Given the description of an element on the screen output the (x, y) to click on. 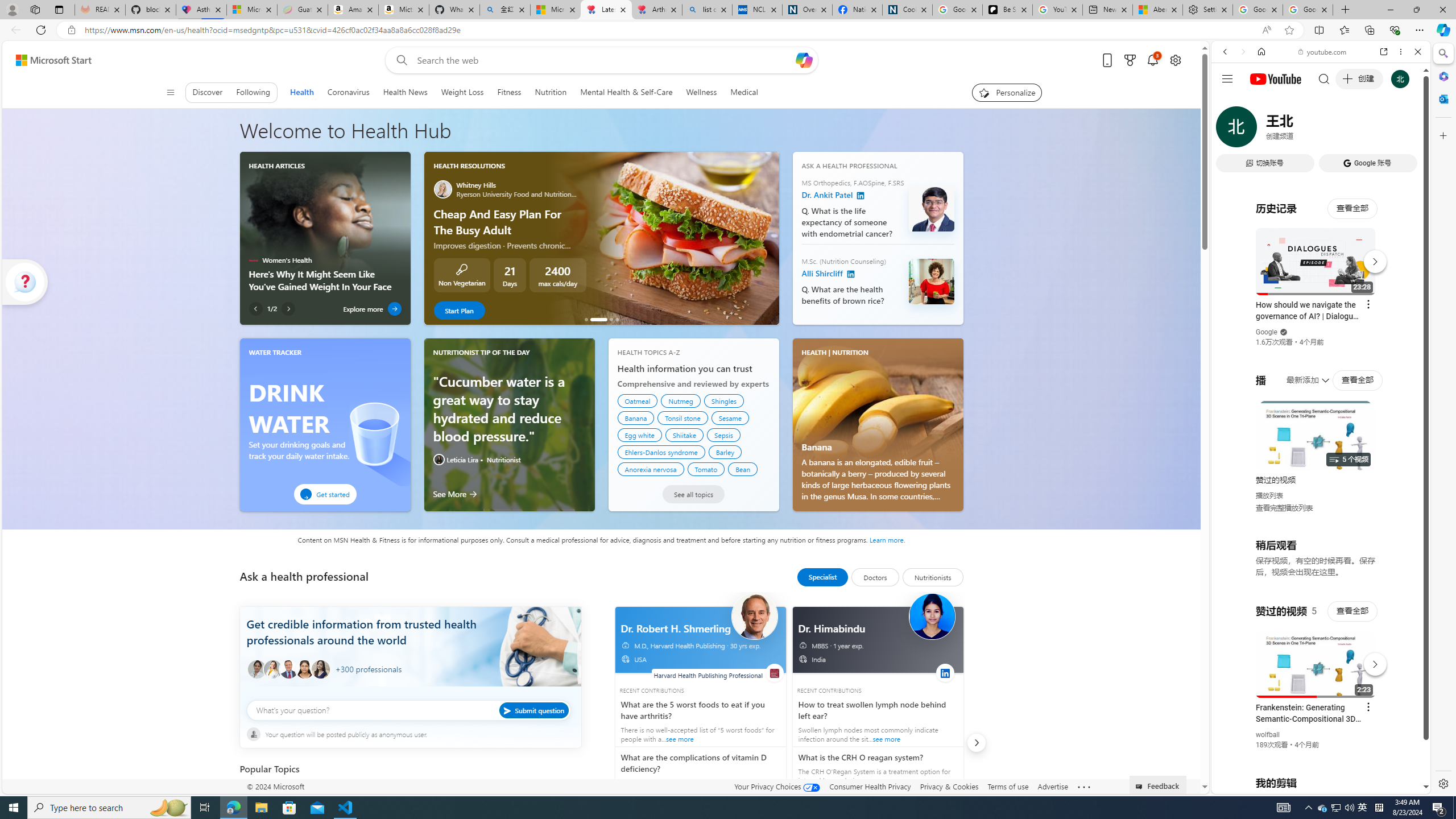
Ask Professionals Widget collapsed  (25, 281)
Shingles (723, 400)
Enter your search term (603, 59)
Class: b_serphb (1404, 130)
VIDEOS (1300, 130)
Tomato (706, 468)
Skip to content (49, 59)
See all topics (693, 493)
next button (975, 742)
Next Article (288, 308)
Terms of use (1008, 785)
